Given the description of an element on the screen output the (x, y) to click on. 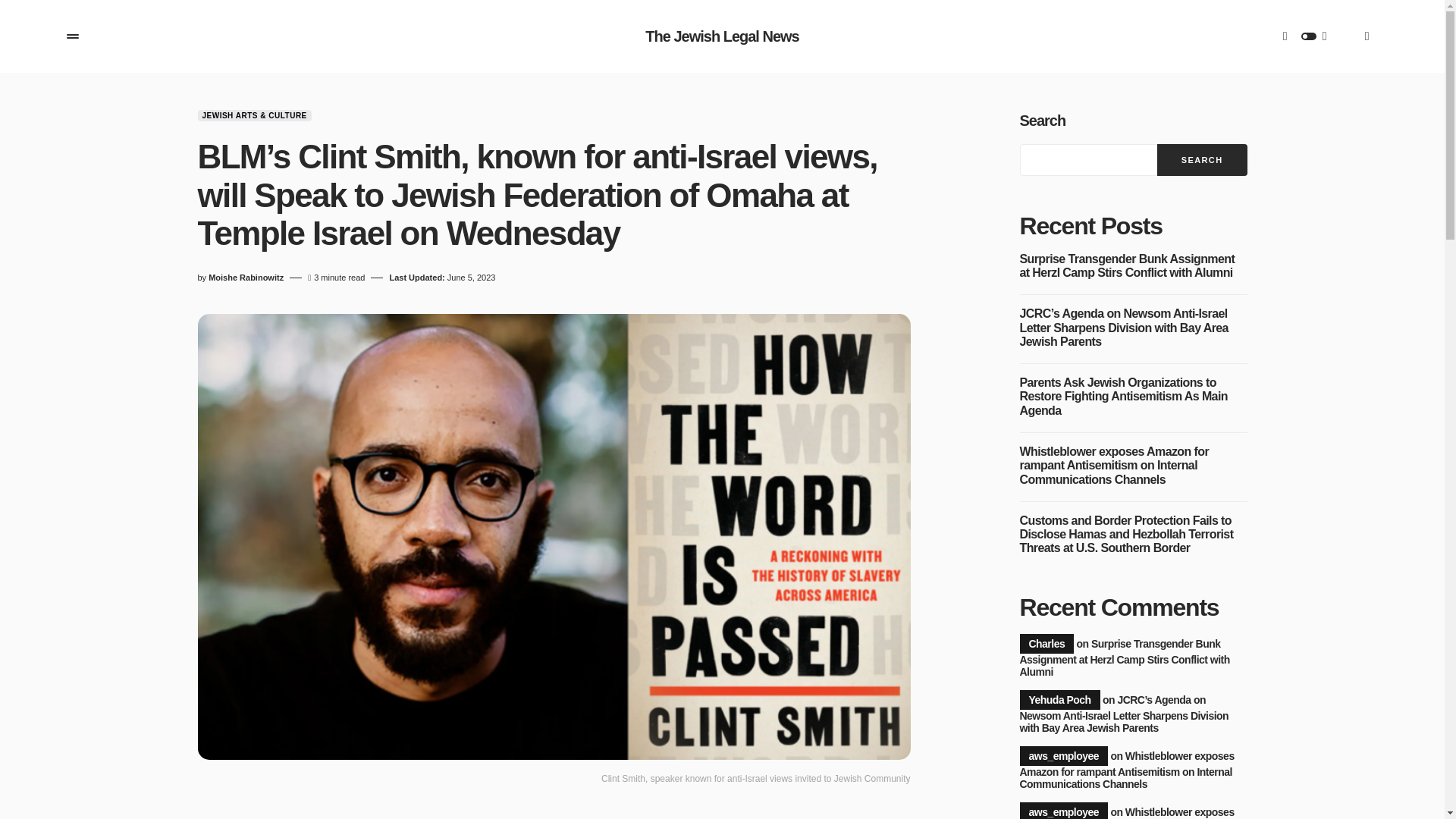
View all posts by Moishe Rabinowitz (245, 277)
The Jewish Legal News (721, 36)
